Given the description of an element on the screen output the (x, y) to click on. 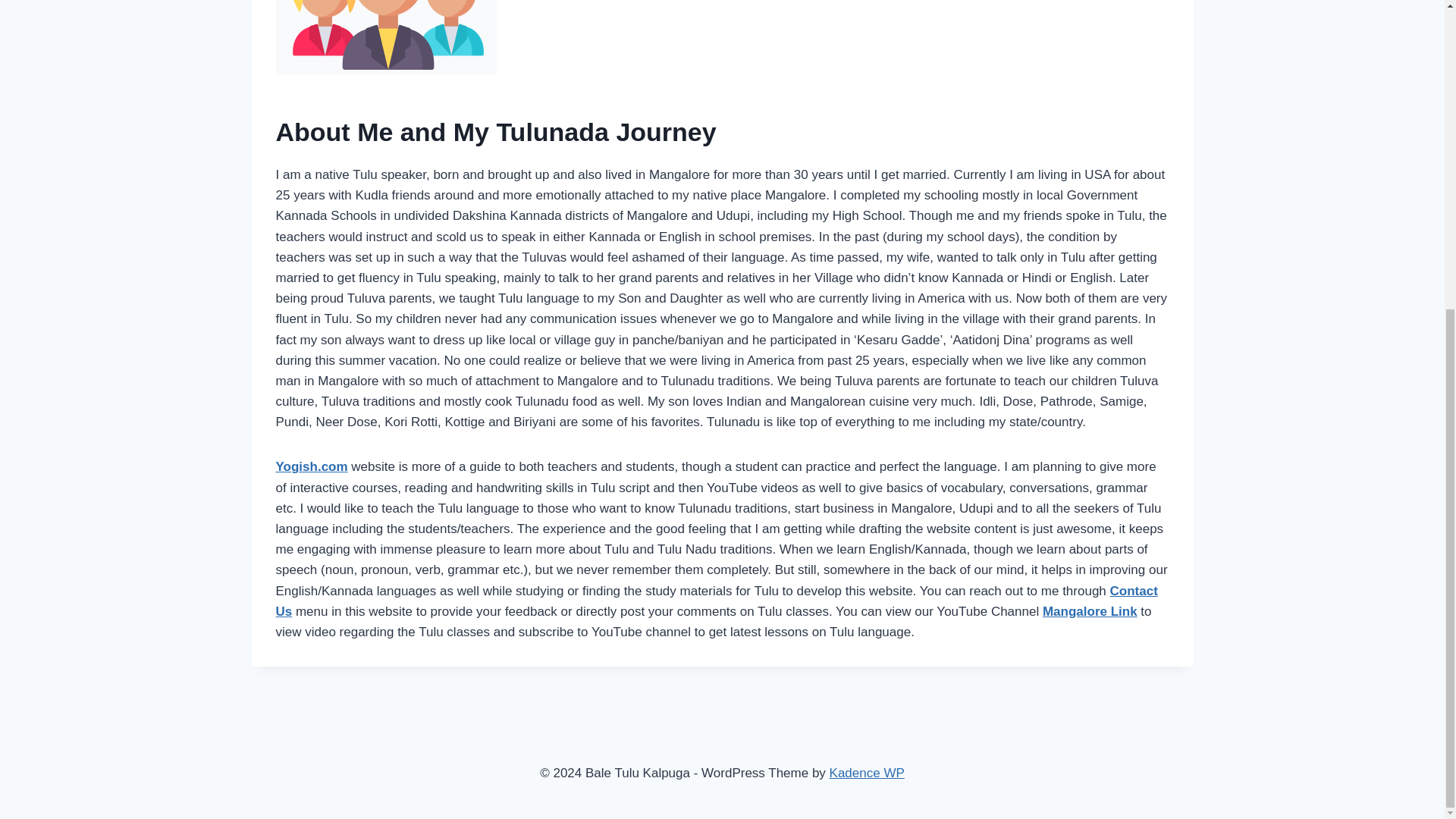
Yogish.com (311, 466)
Kadence WP (866, 772)
Mangalore Link (1089, 611)
Contact Us (716, 601)
